Given the description of an element on the screen output the (x, y) to click on. 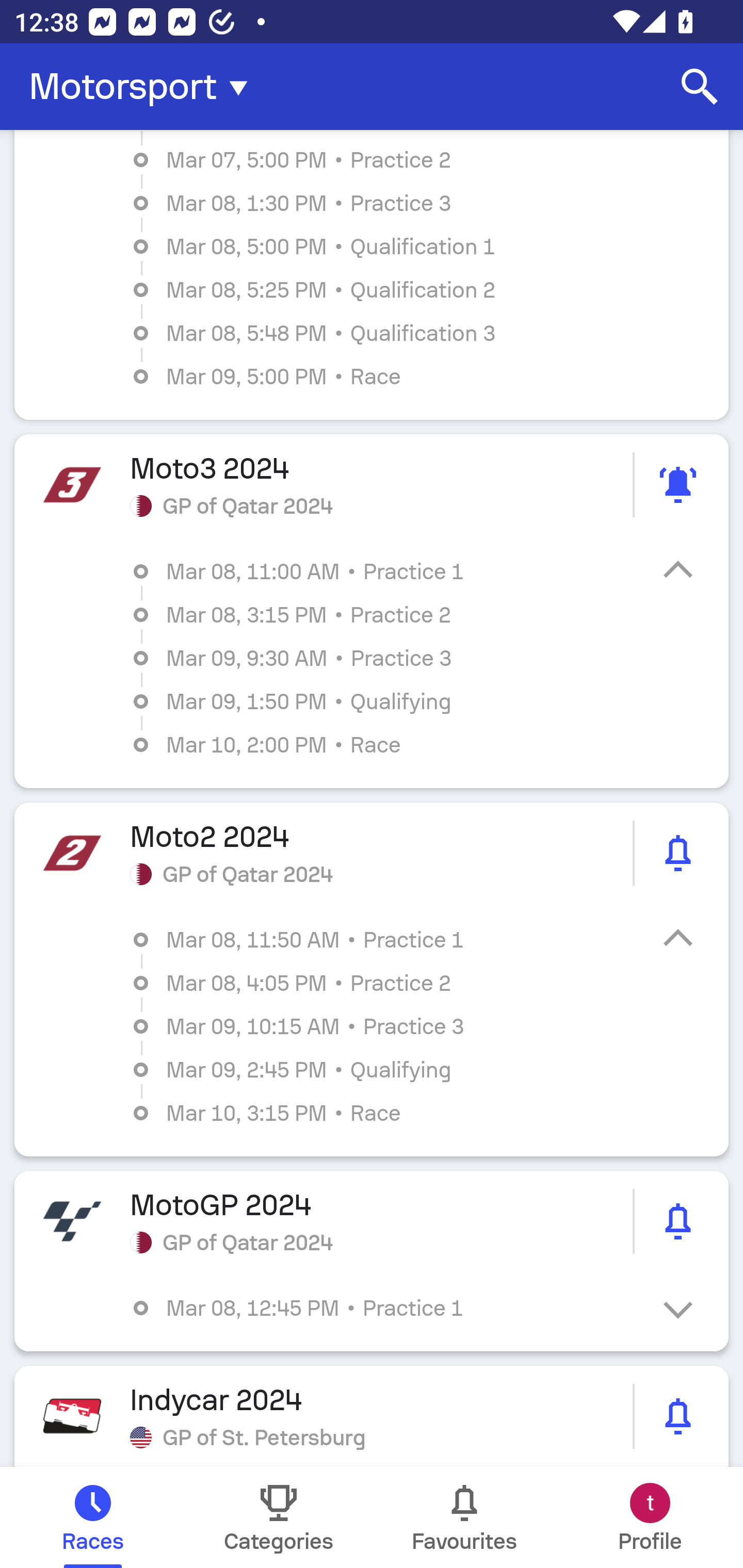
Motorsport (144, 86)
Search (699, 86)
Mar 08, 12:45 PM • Practice 1 (385, 1308)
Indycar 2024 GP of St. Petersburg picture (371, 1416)
Categories (278, 1517)
Favourites (464, 1517)
Profile (650, 1517)
